Given the description of an element on the screen output the (x, y) to click on. 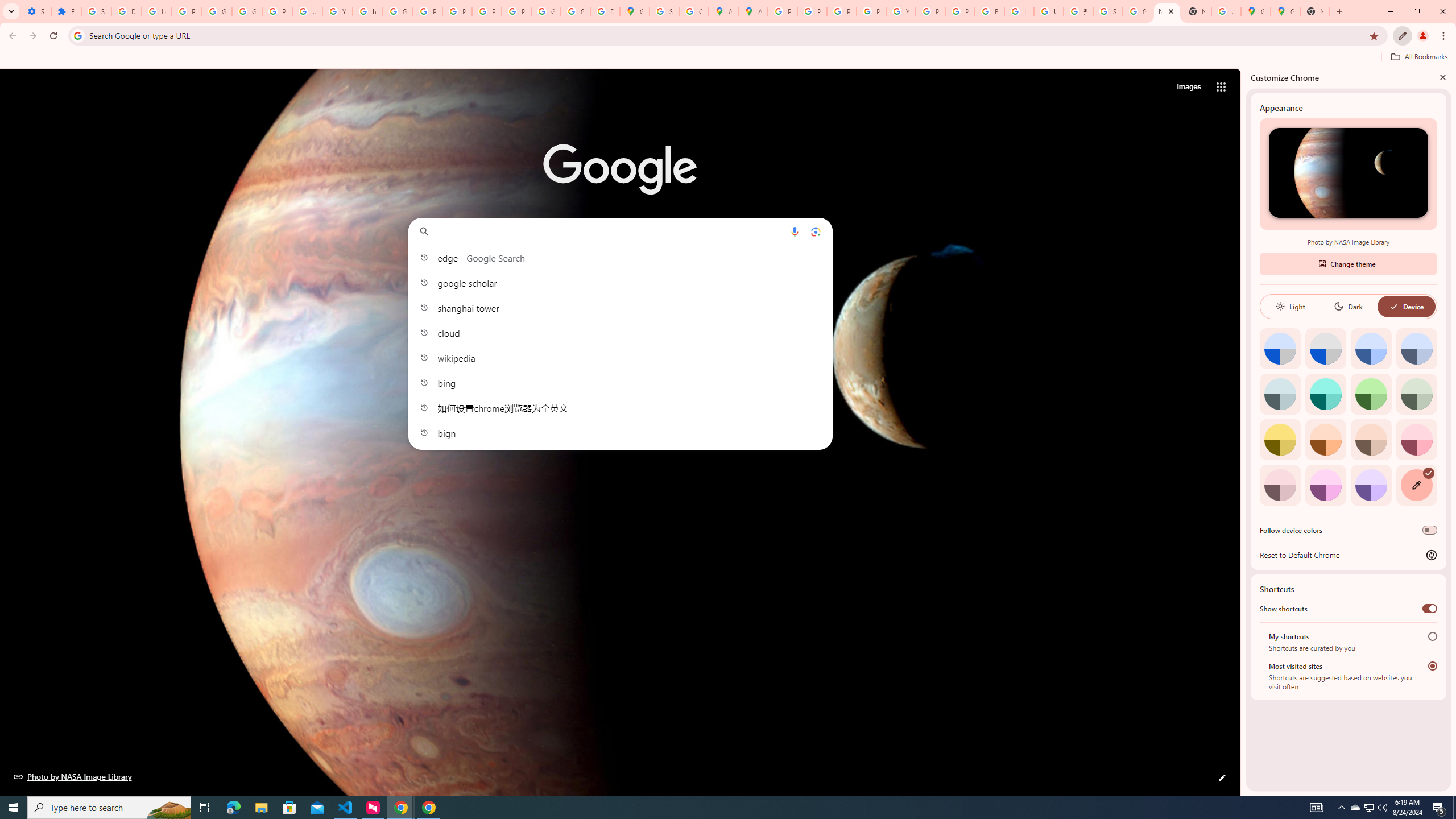
Use Google Maps in Space - Google Maps Help (1226, 11)
Follow device colors (1429, 529)
New Tab (1314, 11)
